Given the description of an element on the screen output the (x, y) to click on. 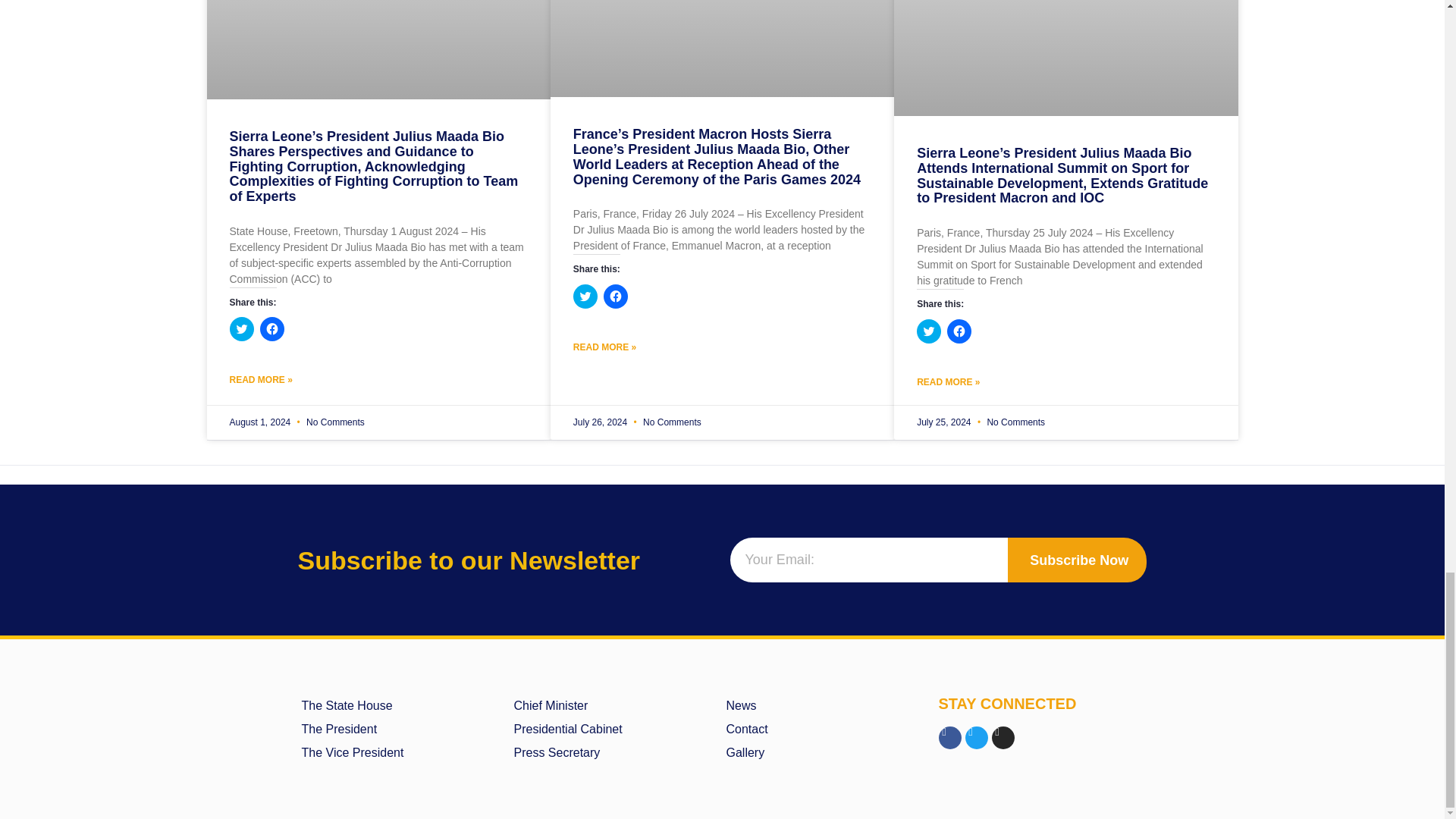
Click to share on Twitter (584, 296)
Click to share on Twitter (240, 328)
Click to share on Twitter (928, 331)
Click to share on Facebook (959, 331)
Click to share on Facebook (271, 328)
Click to share on Facebook (615, 296)
